Given the description of an element on the screen output the (x, y) to click on. 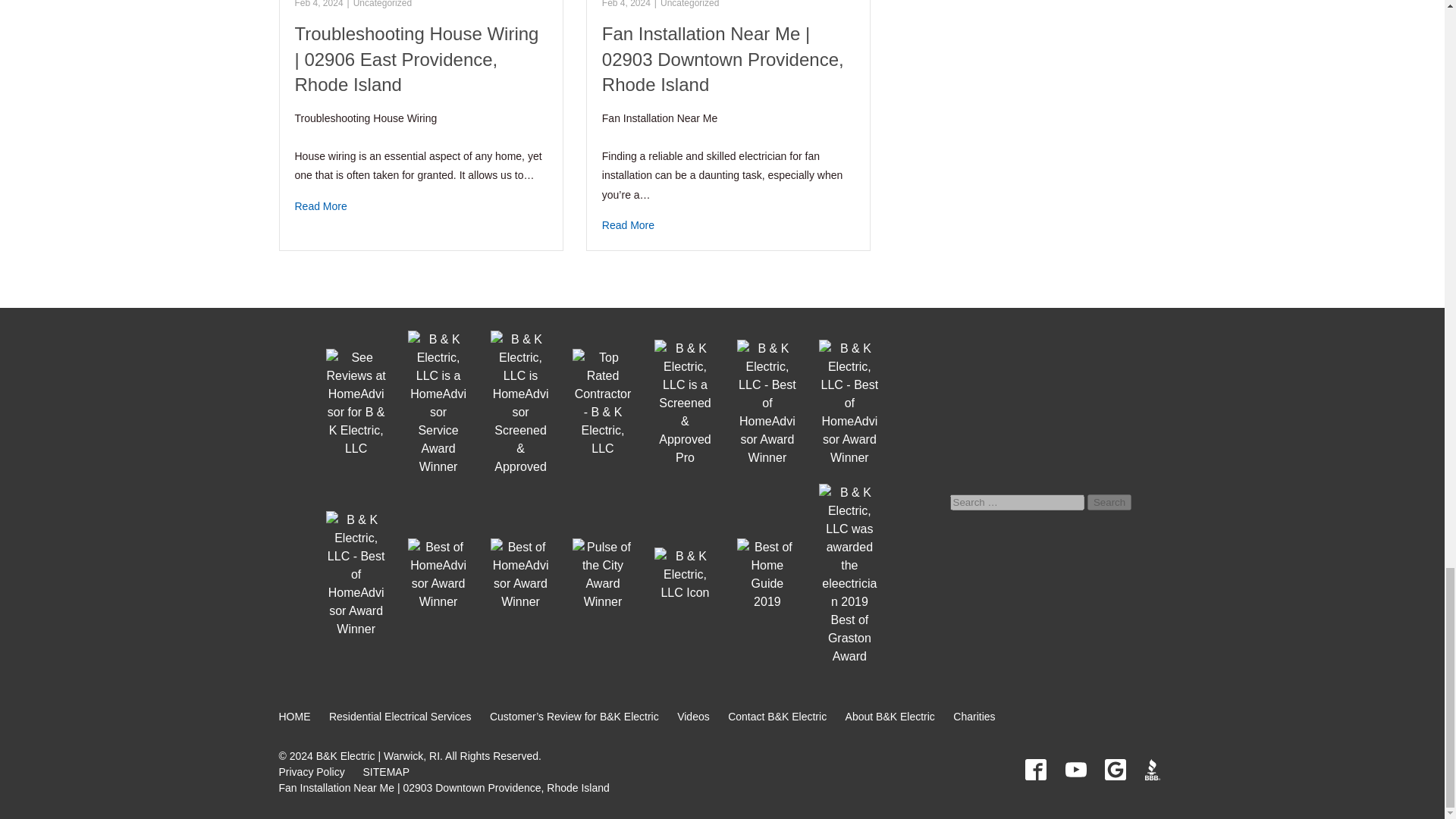
Search (1109, 502)
youtube (1075, 769)
Search (1109, 502)
google (1115, 769)
bbb (1155, 769)
facebook (1035, 769)
